Given the description of an element on the screen output the (x, y) to click on. 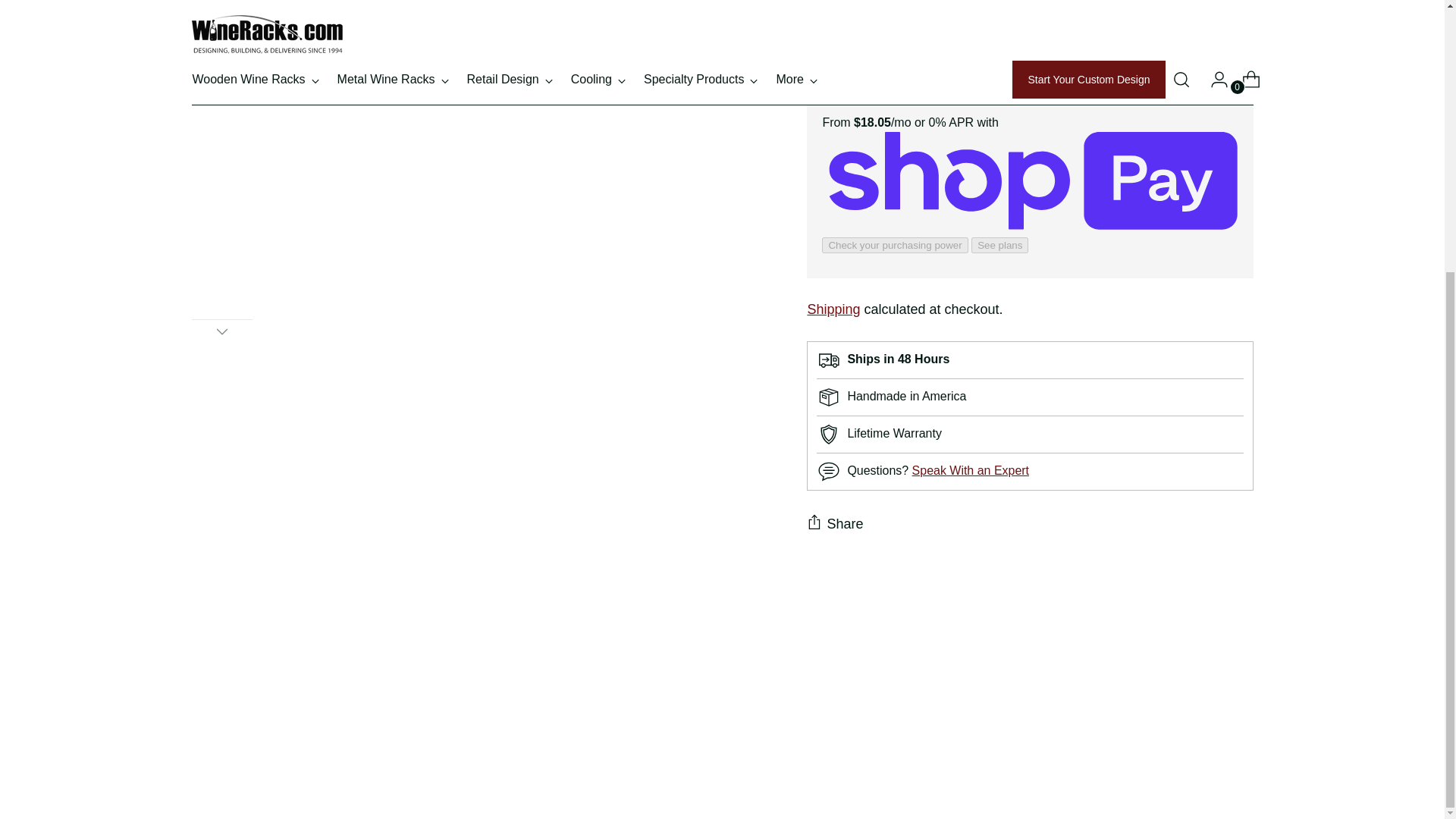
Contact (970, 451)
Down (220, 331)
1 (843, 2)
